Given the description of an element on the screen output the (x, y) to click on. 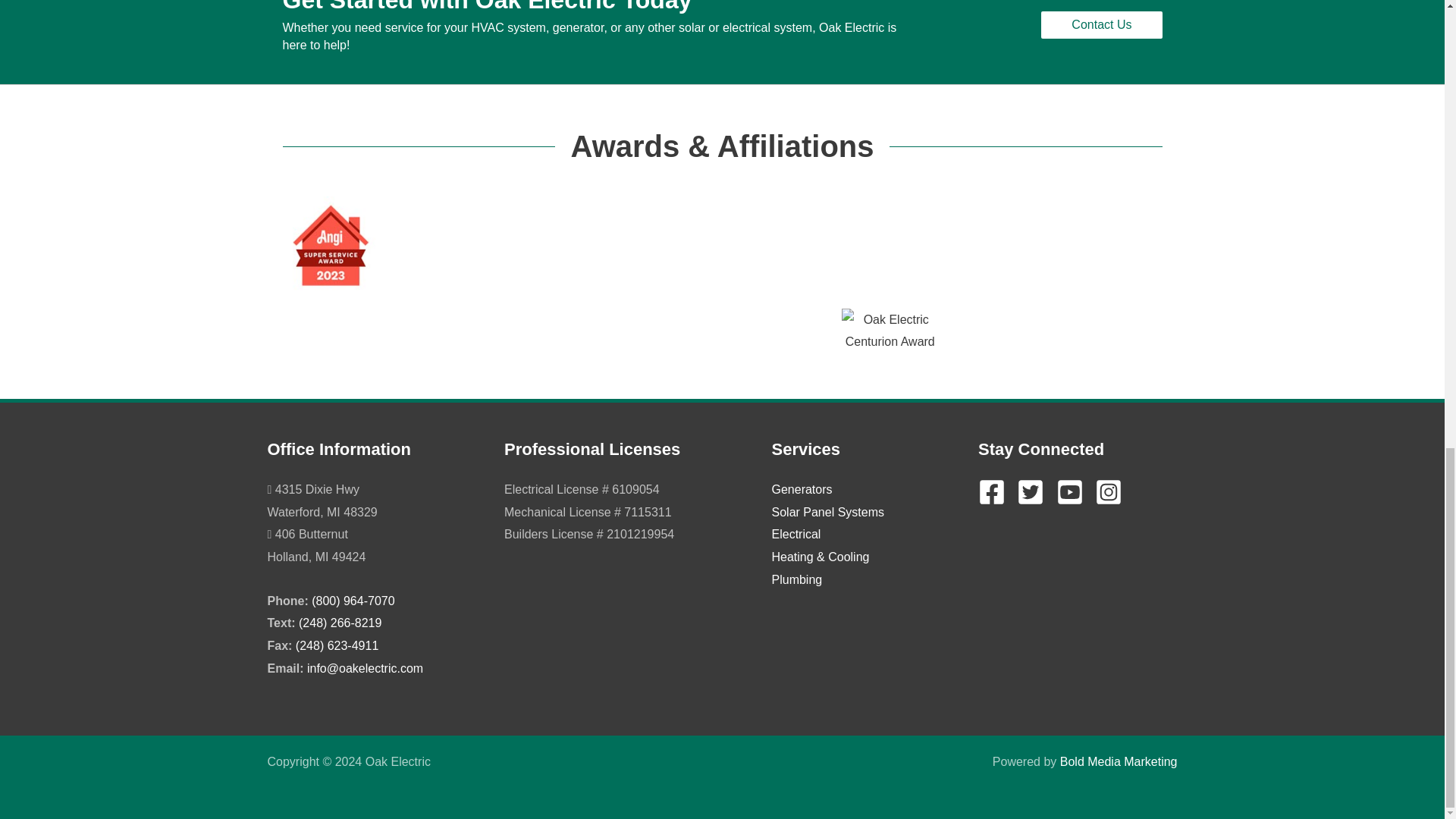
angi-2023 (330, 244)
Click Here (1101, 24)
